Given the description of an element on the screen output the (x, y) to click on. 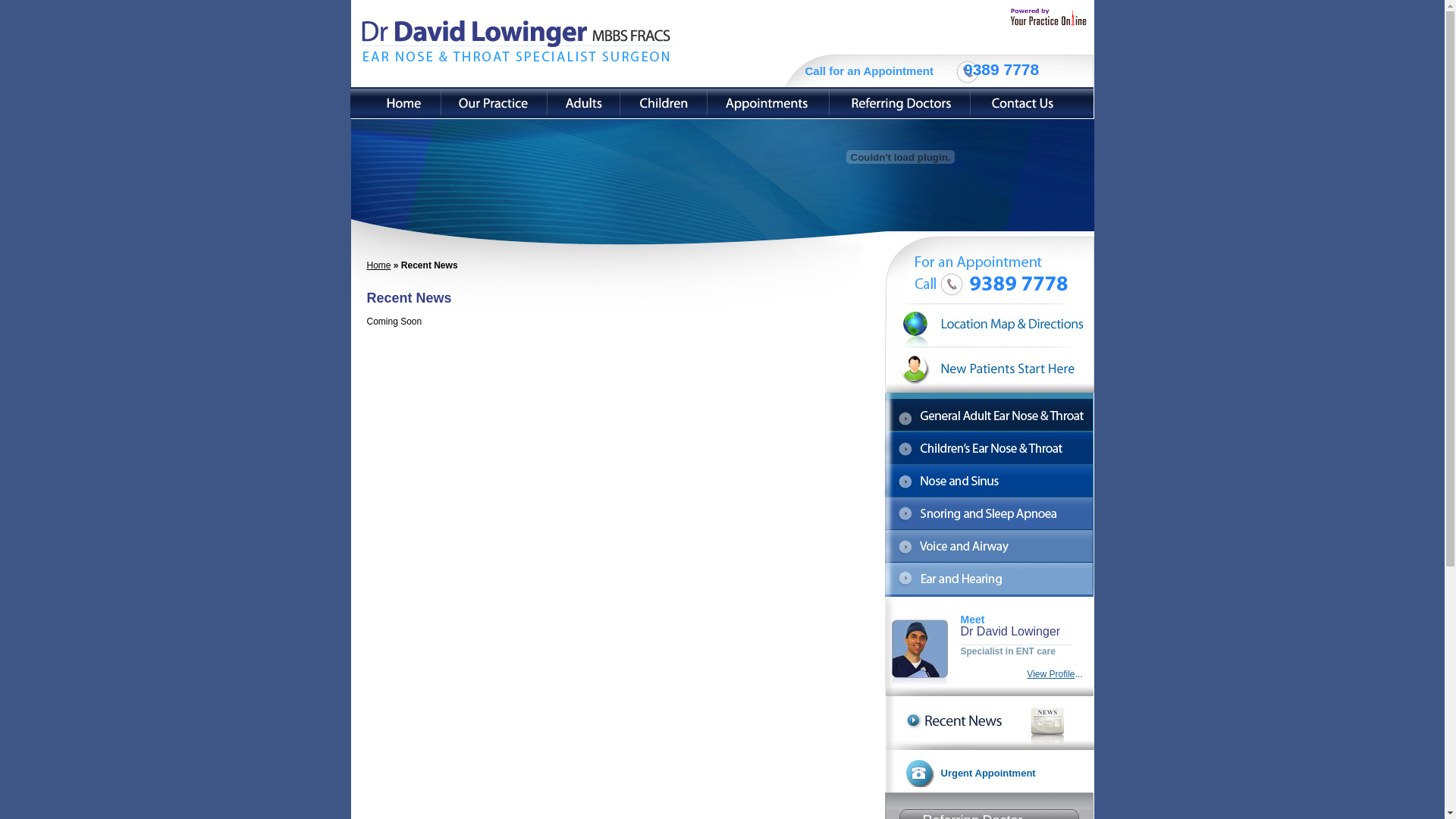
Call for an Appointment9389 7778 Element type: text (922, 70)
Home Element type: text (379, 265)
View Profile Element type: text (1050, 673)
Urgent Appointment Element type: text (987, 772)
Meet
Dr David Lowinger Element type: text (1026, 625)
